Given the description of an element on the screen output the (x, y) to click on. 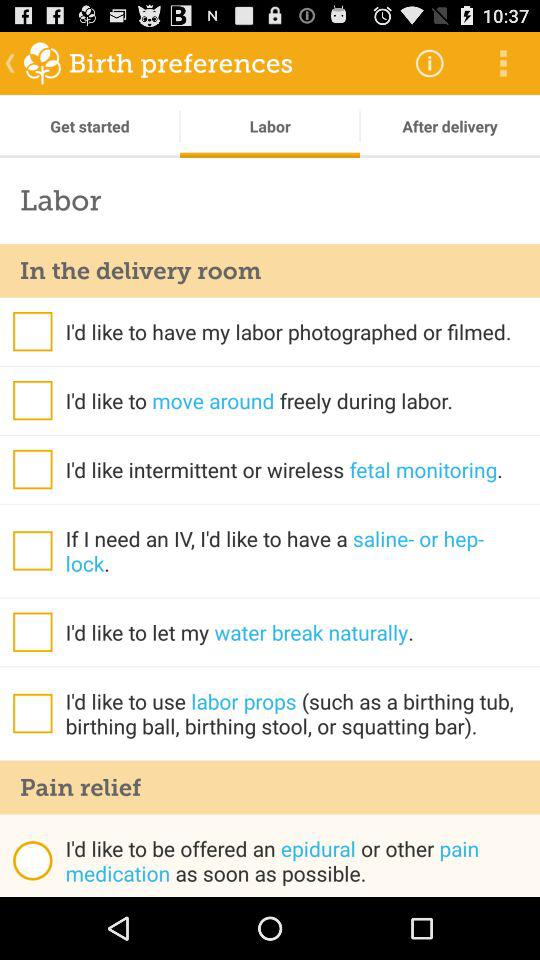
choose after delivery item (450, 125)
